Given the description of an element on the screen output the (x, y) to click on. 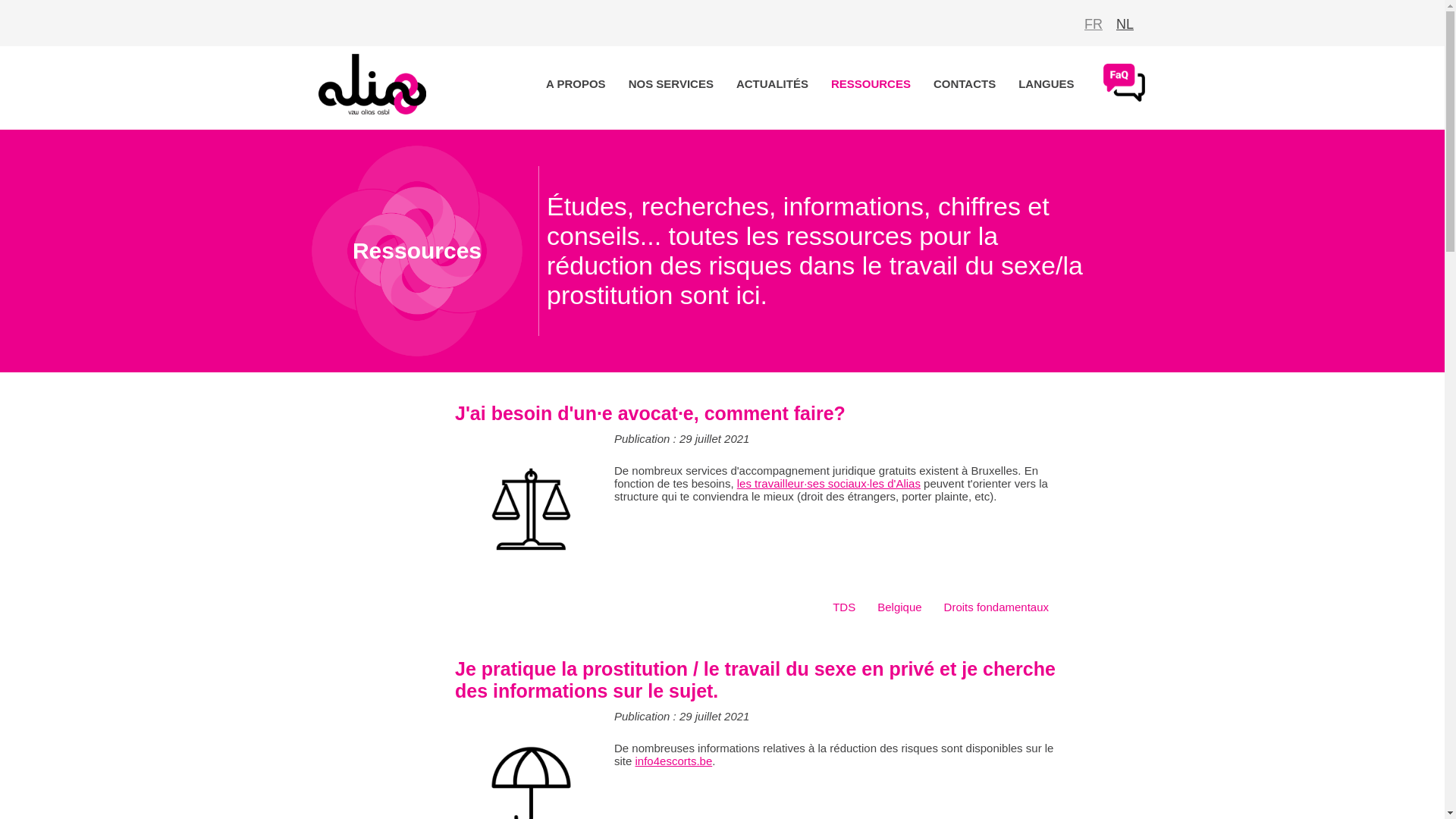
CONTACTS Element type: text (964, 83)
TDS Element type: text (843, 606)
FR Element type: text (1093, 23)
NL Element type: text (1124, 23)
Droits fondamentaux Element type: text (996, 606)
info4escorts.be Element type: text (673, 760)
A PROPOS Element type: text (575, 83)
RESSOURCES Element type: text (870, 83)
LANGUES Element type: text (1045, 83)
Belgique Element type: text (899, 606)
NOS SERVICES Element type: text (671, 83)
